Given the description of an element on the screen output the (x, y) to click on. 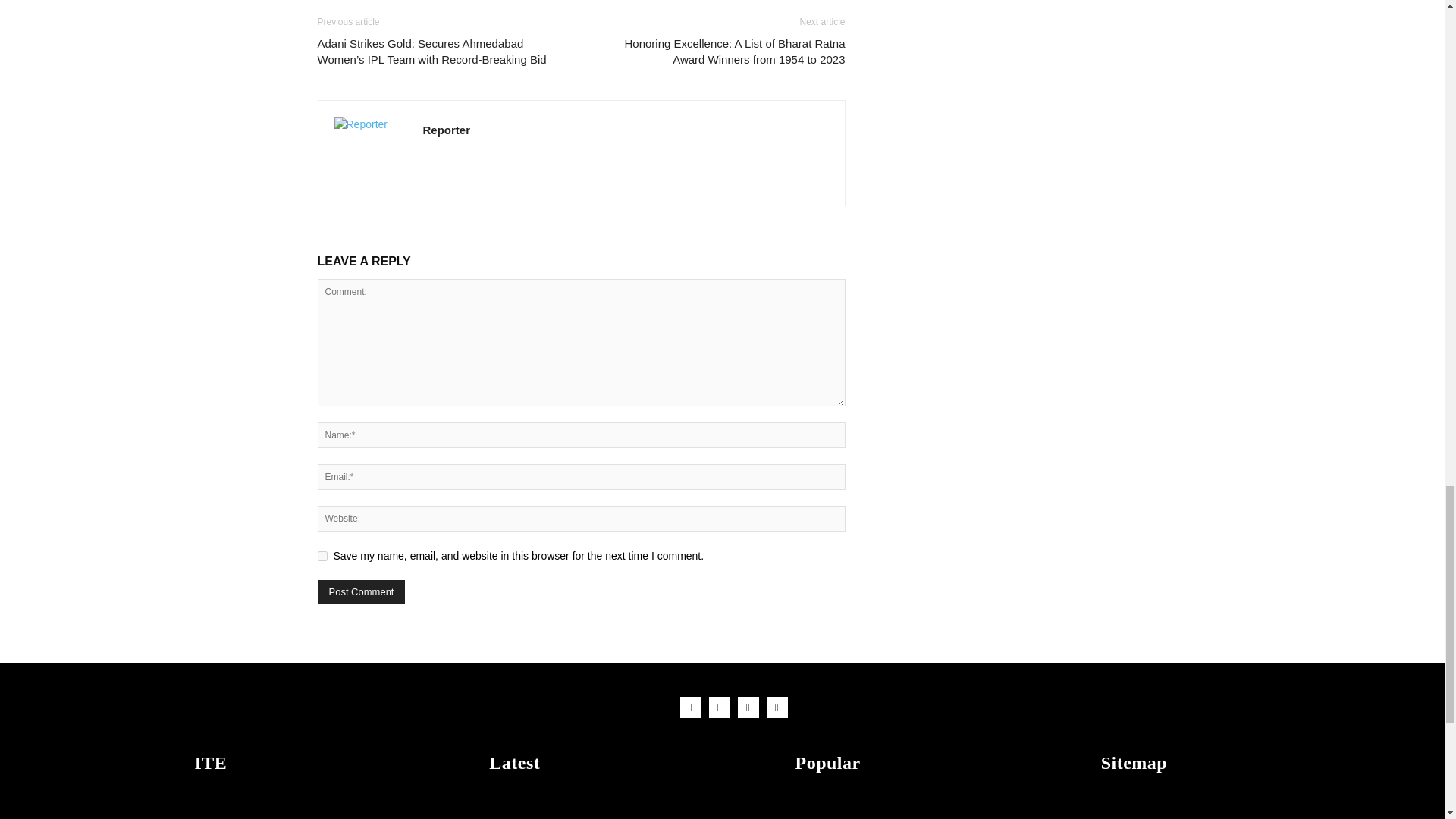
yes (321, 556)
Post Comment (360, 591)
